Given the description of an element on the screen output the (x, y) to click on. 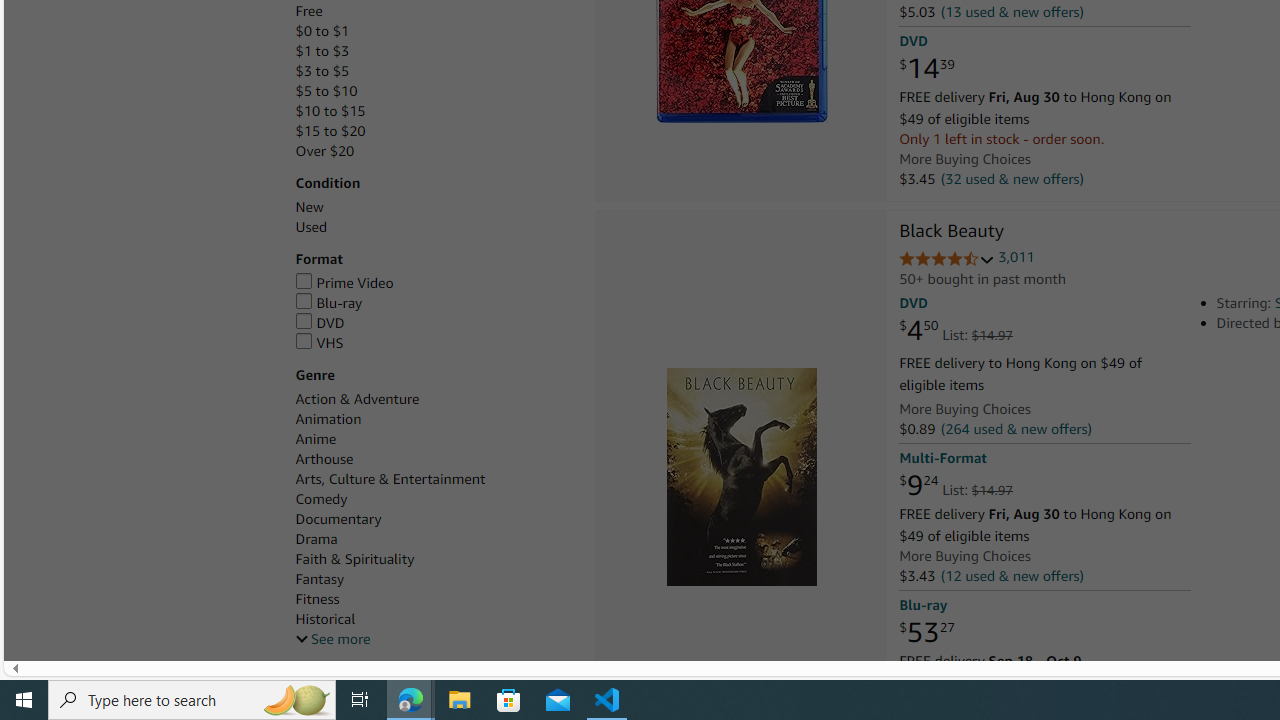
$15 to $20 (434, 131)
$3 to $5 (321, 70)
(12 used & new offers) (1011, 574)
Animation (434, 419)
Go back to filtering menu (84, 651)
(32 used & new offers) (1011, 178)
Fitness (317, 599)
Documentary (434, 519)
New (434, 207)
New (308, 207)
Arts, Culture & Entertainment (434, 479)
$0 to $1 (434, 31)
$0 to $1 (321, 31)
Free (434, 11)
$3 to $5 (434, 71)
